Given the description of an element on the screen output the (x, y) to click on. 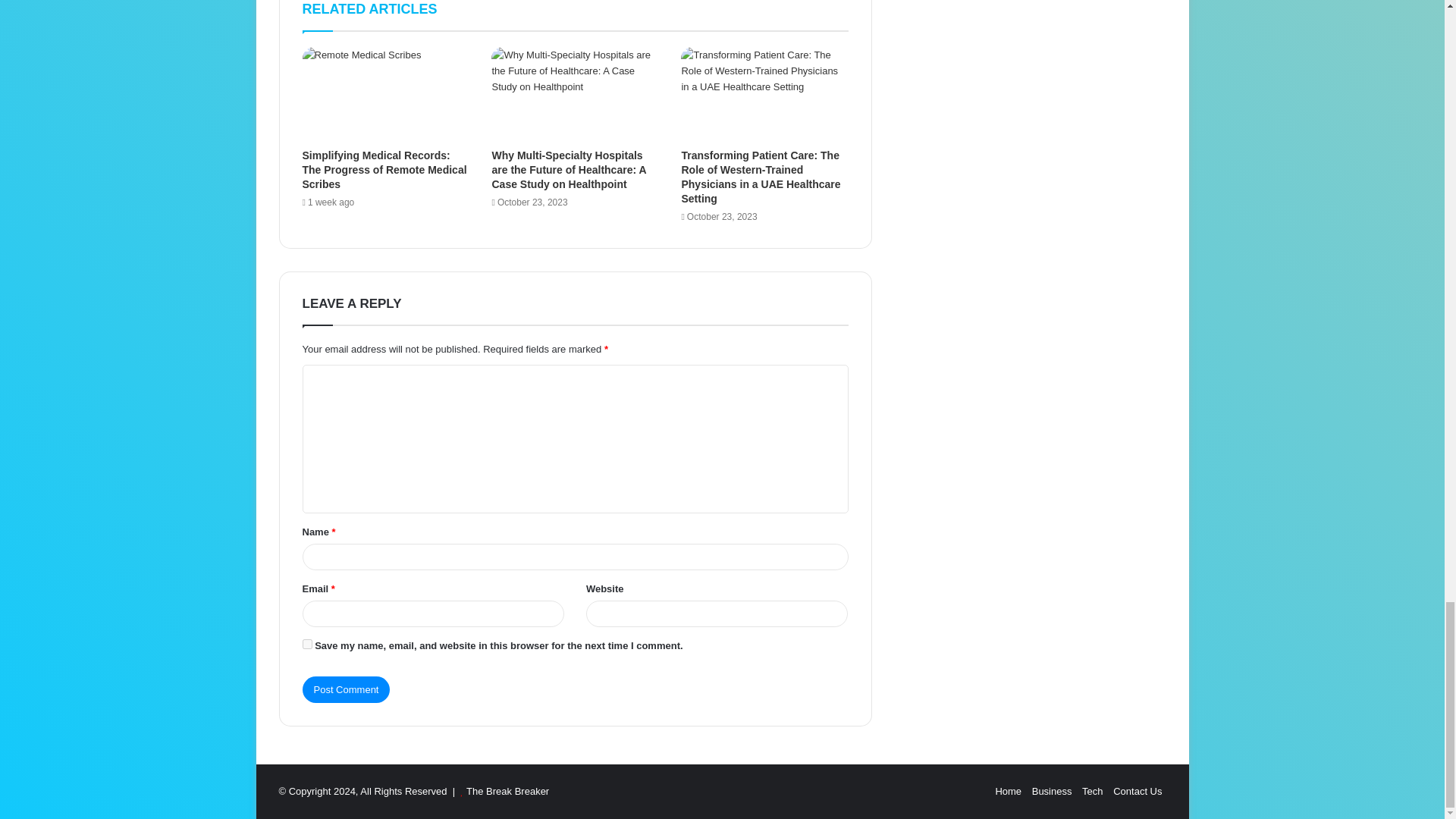
Post Comment (345, 689)
yes (306, 644)
